Given the description of an element on the screen output the (x, y) to click on. 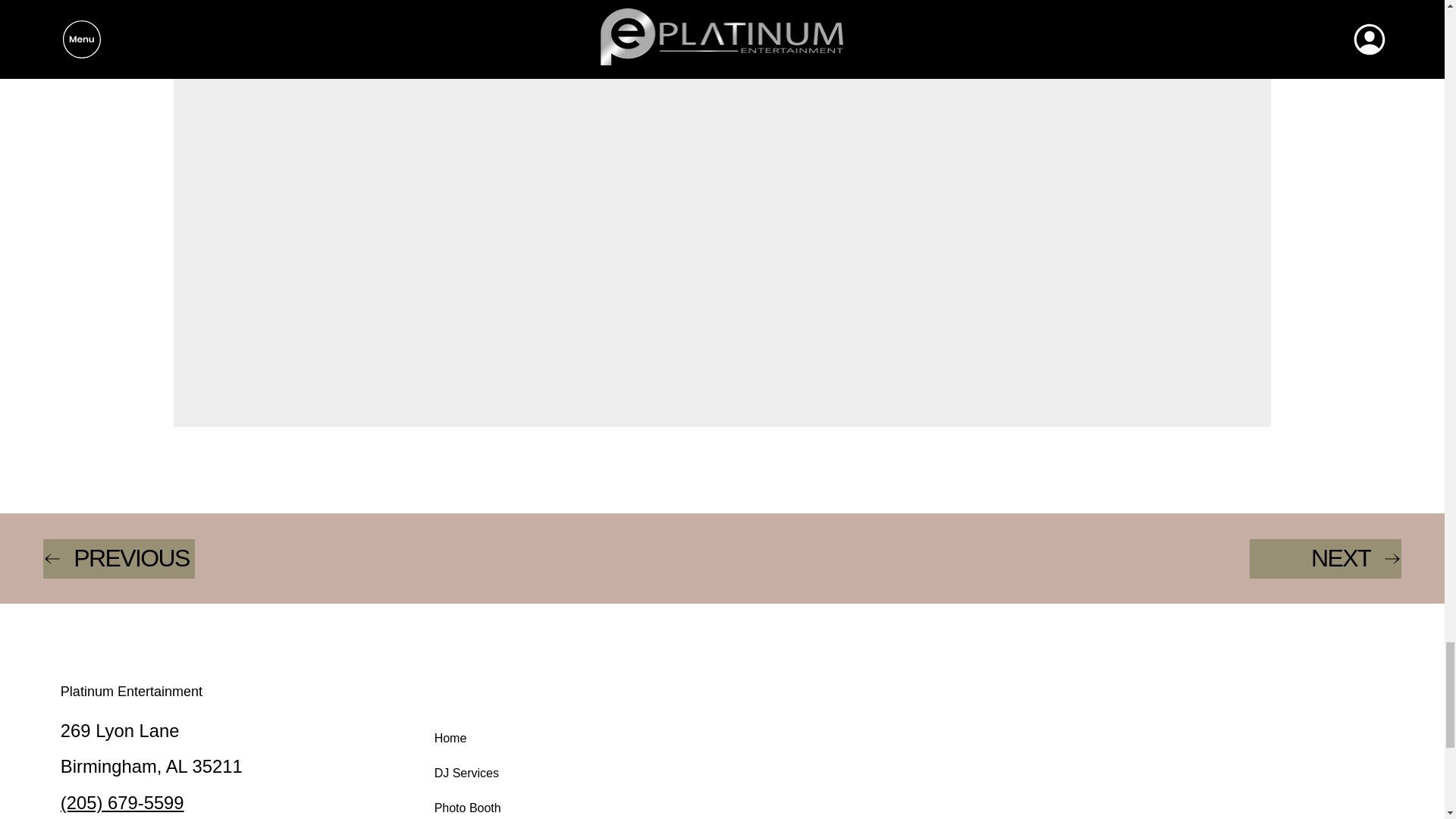
DJ Services (491, 773)
NEXT (1324, 558)
Photo Booth (491, 805)
PREVIOUS (119, 558)
Home (491, 738)
Platinum Entertainment (131, 691)
